Given the description of an element on the screen output the (x, y) to click on. 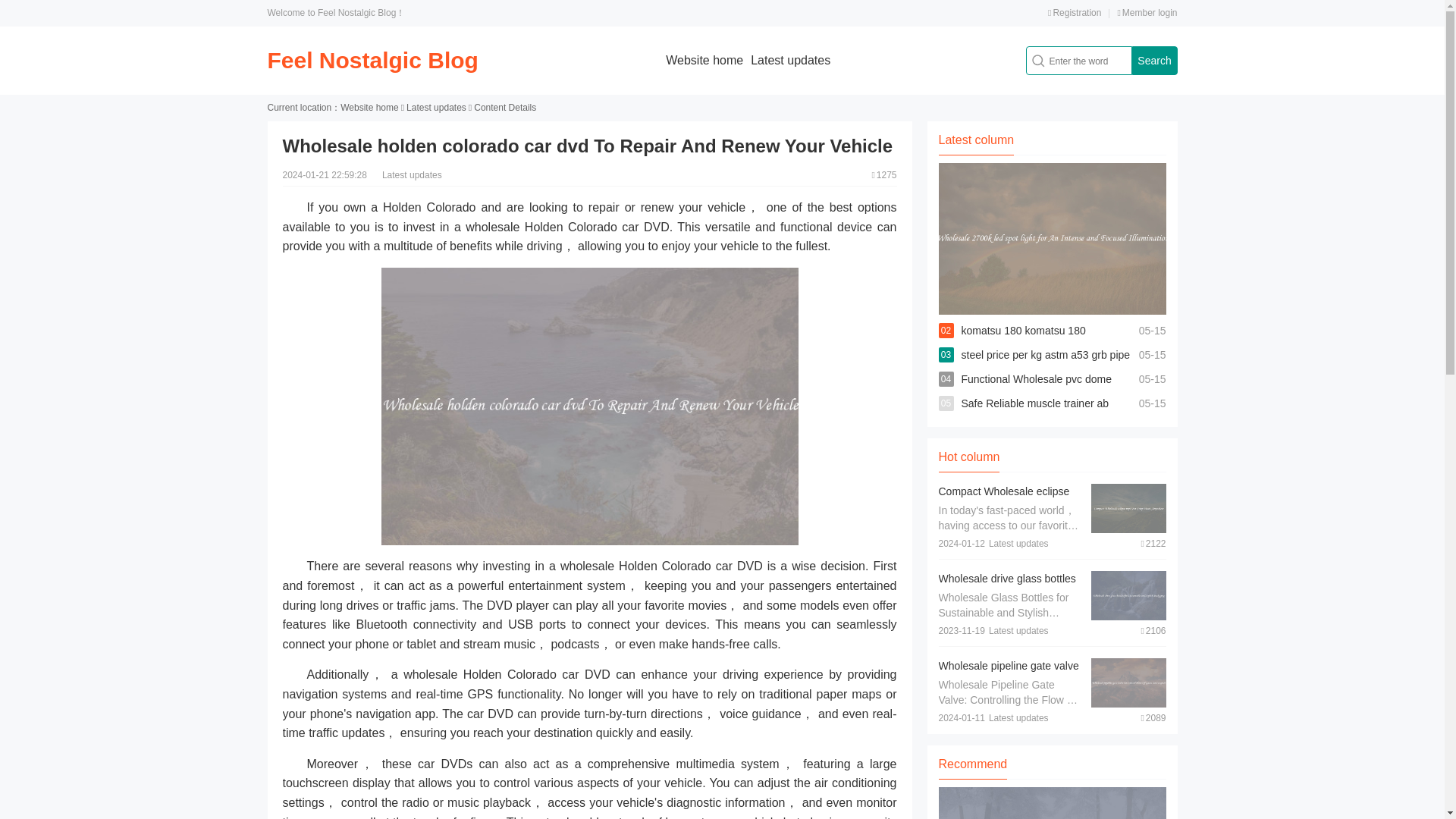
Feel Nostalgic Blog (371, 59)
Safe Reliable muscle trainer ab trainer ab flex (1034, 415)
Latest updates (435, 107)
komatsu 180 komatsu 180 Suppliers and Manufacturers (1028, 342)
Latest updates (790, 60)
Member login (1146, 12)
Website home (703, 60)
